Given the description of an element on the screen output the (x, y) to click on. 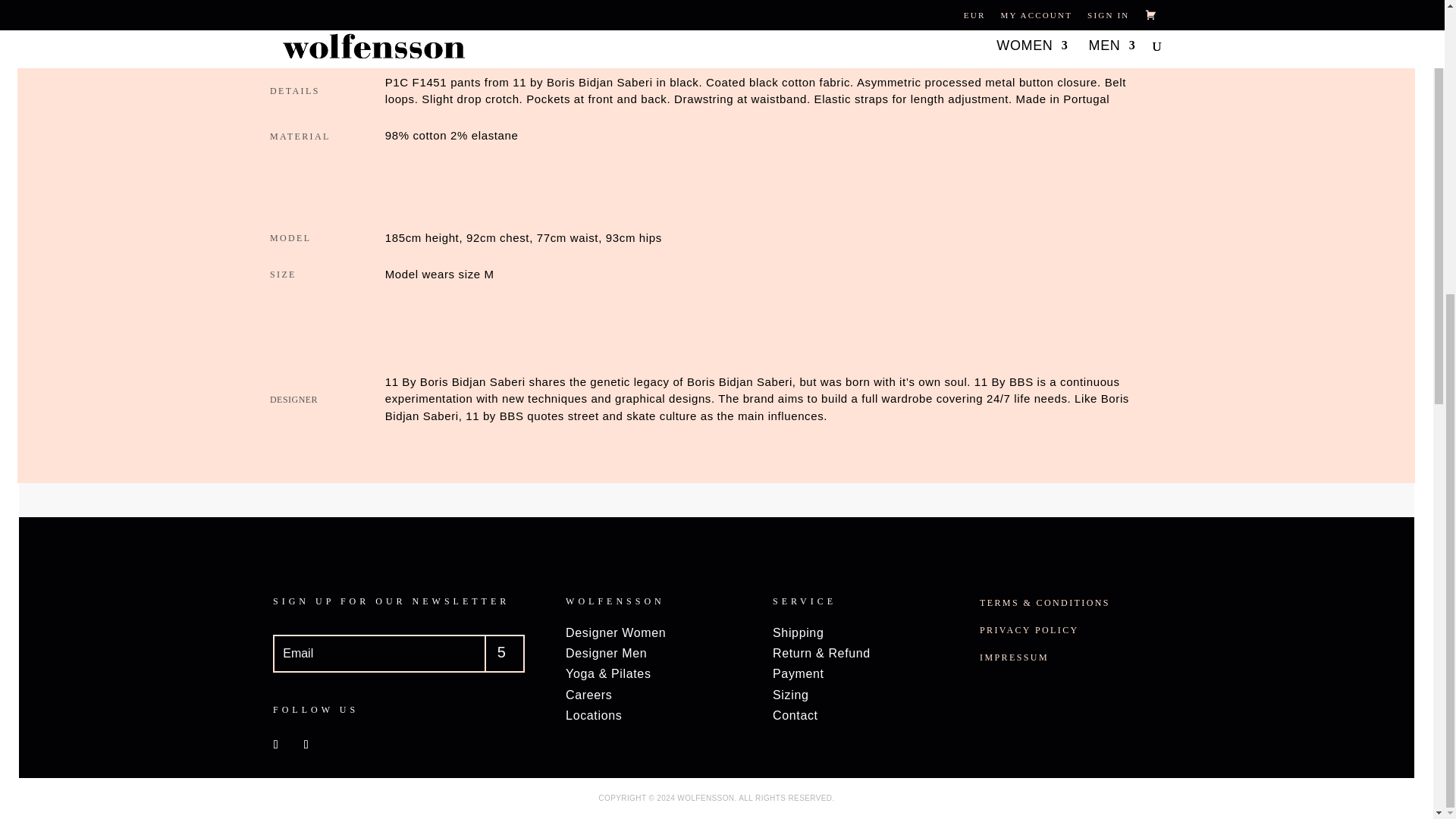
Follow on Facebook (275, 744)
Follow on Instagram (306, 744)
